Given the description of an element on the screen output the (x, y) to click on. 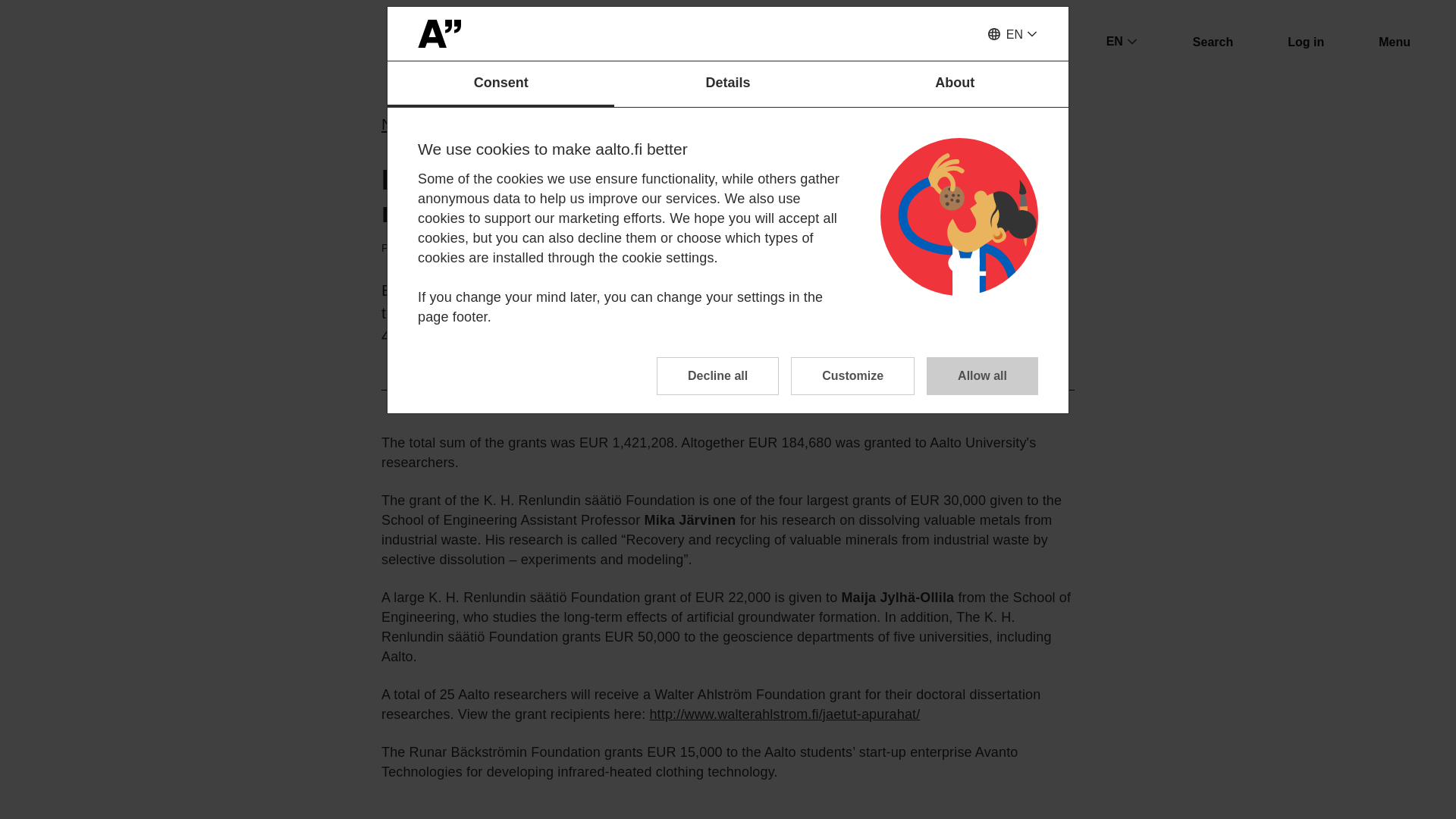
Consent (500, 84)
Details (727, 84)
EN (1011, 34)
About (954, 84)
